Given the description of an element on the screen output the (x, y) to click on. 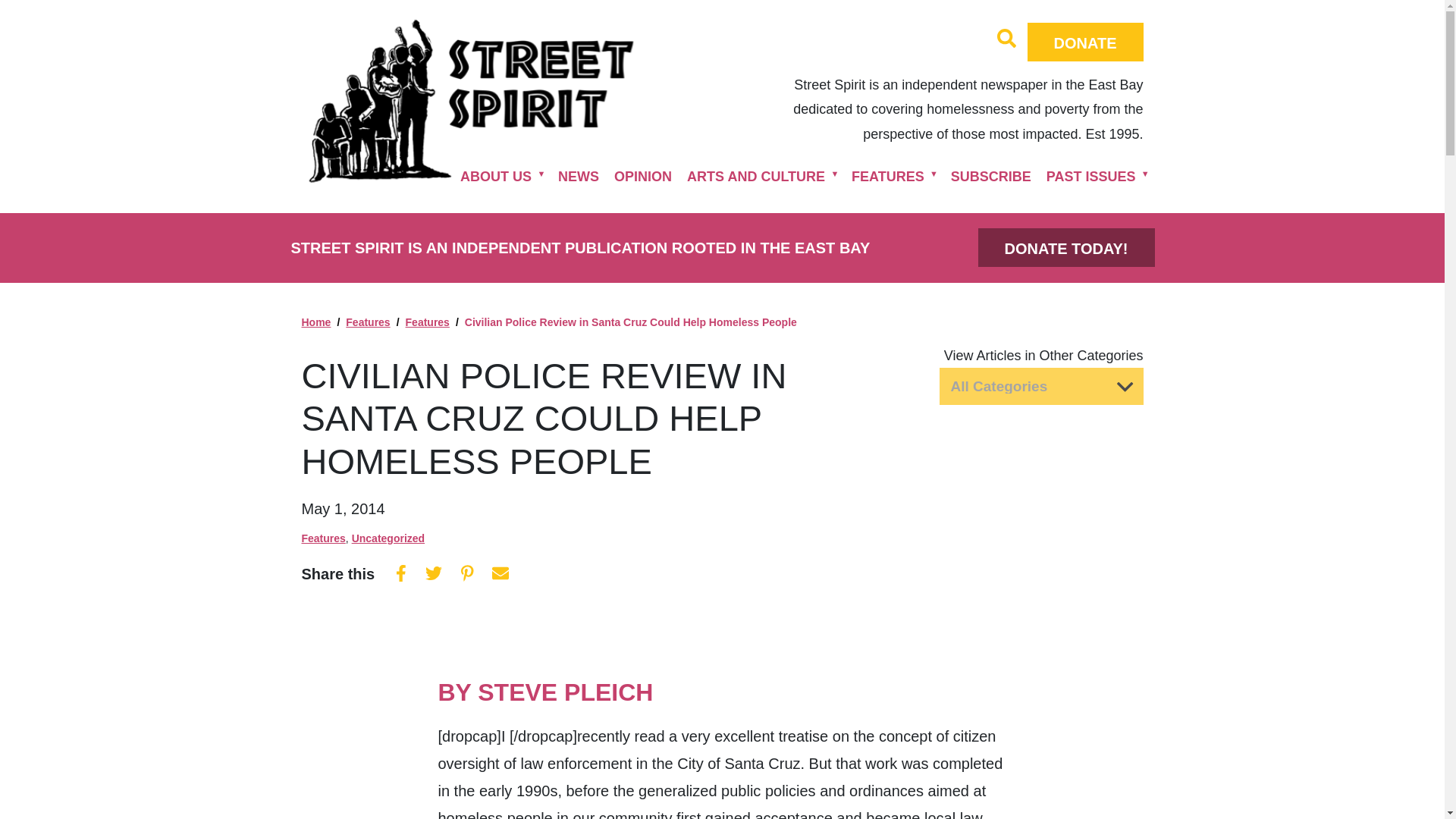
Features (368, 322)
DONATE (1084, 41)
Features (427, 322)
ARTS AND CULTURE (755, 176)
ABOUT US (495, 176)
PAST ISSUES (1090, 176)
Features (323, 538)
Uncategorized (388, 538)
SUBSCRIBE (991, 176)
DONATE TODAY! (1066, 247)
Home (316, 322)
NEWS (578, 176)
FEATURES (887, 176)
OPINION (643, 176)
